Given the description of an element on the screen output the (x, y) to click on. 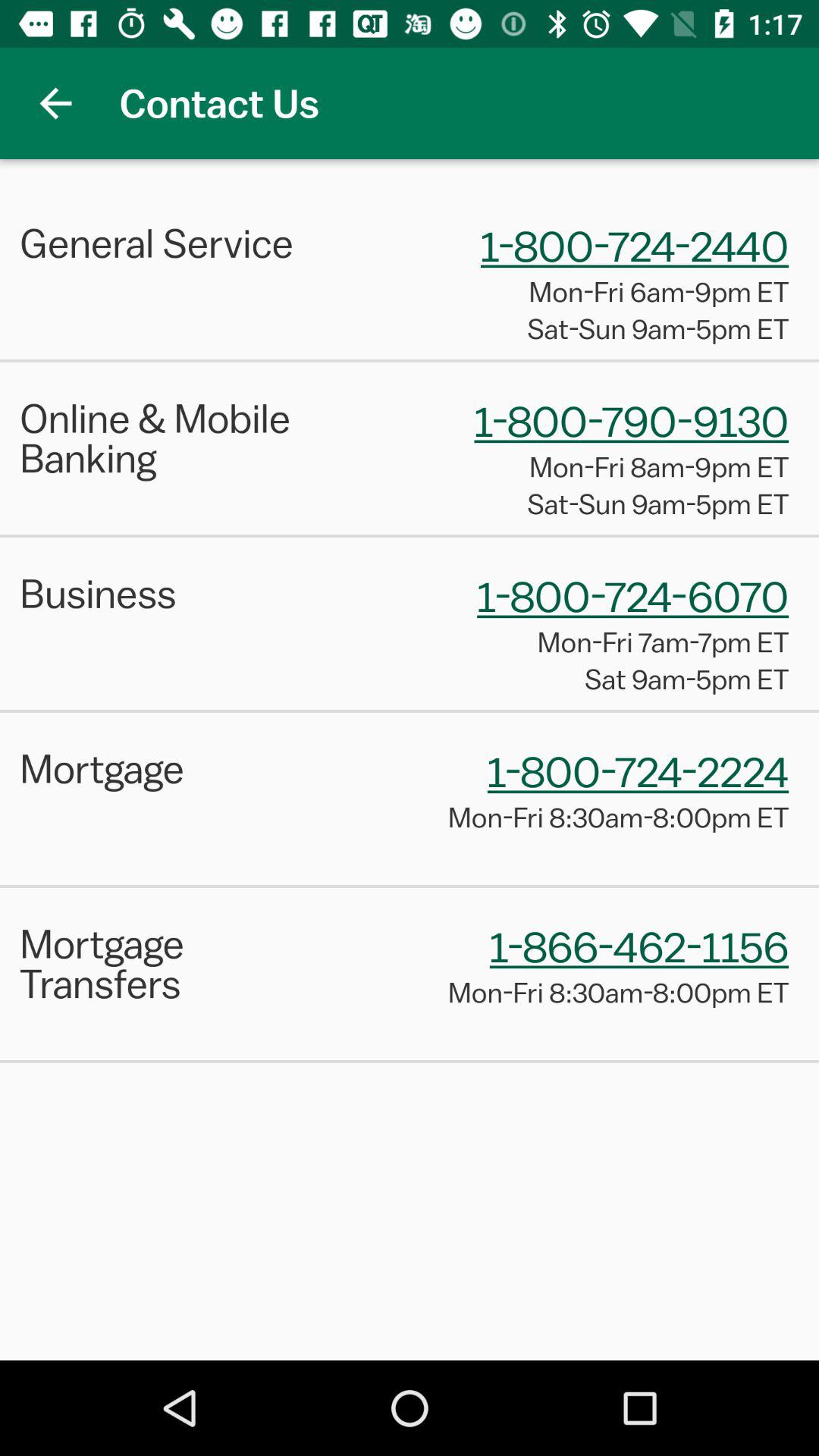
turn on the 1 866 462 (638, 945)
